Given the description of an element on the screen output the (x, y) to click on. 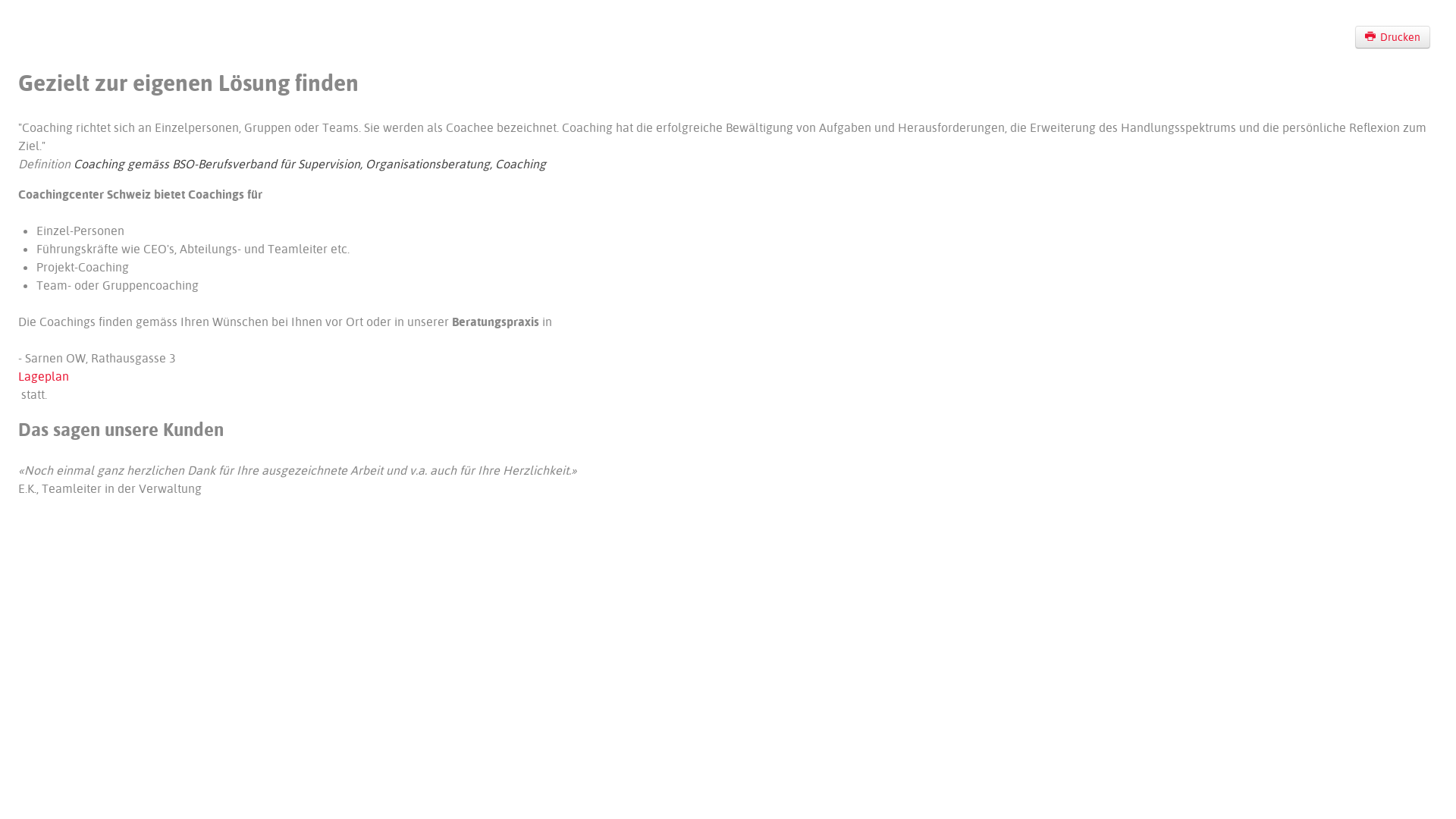
Lageplan Element type: text (43, 375)
Drucken Element type: text (1393, 36)
